Given the description of an element on the screen output the (x, y) to click on. 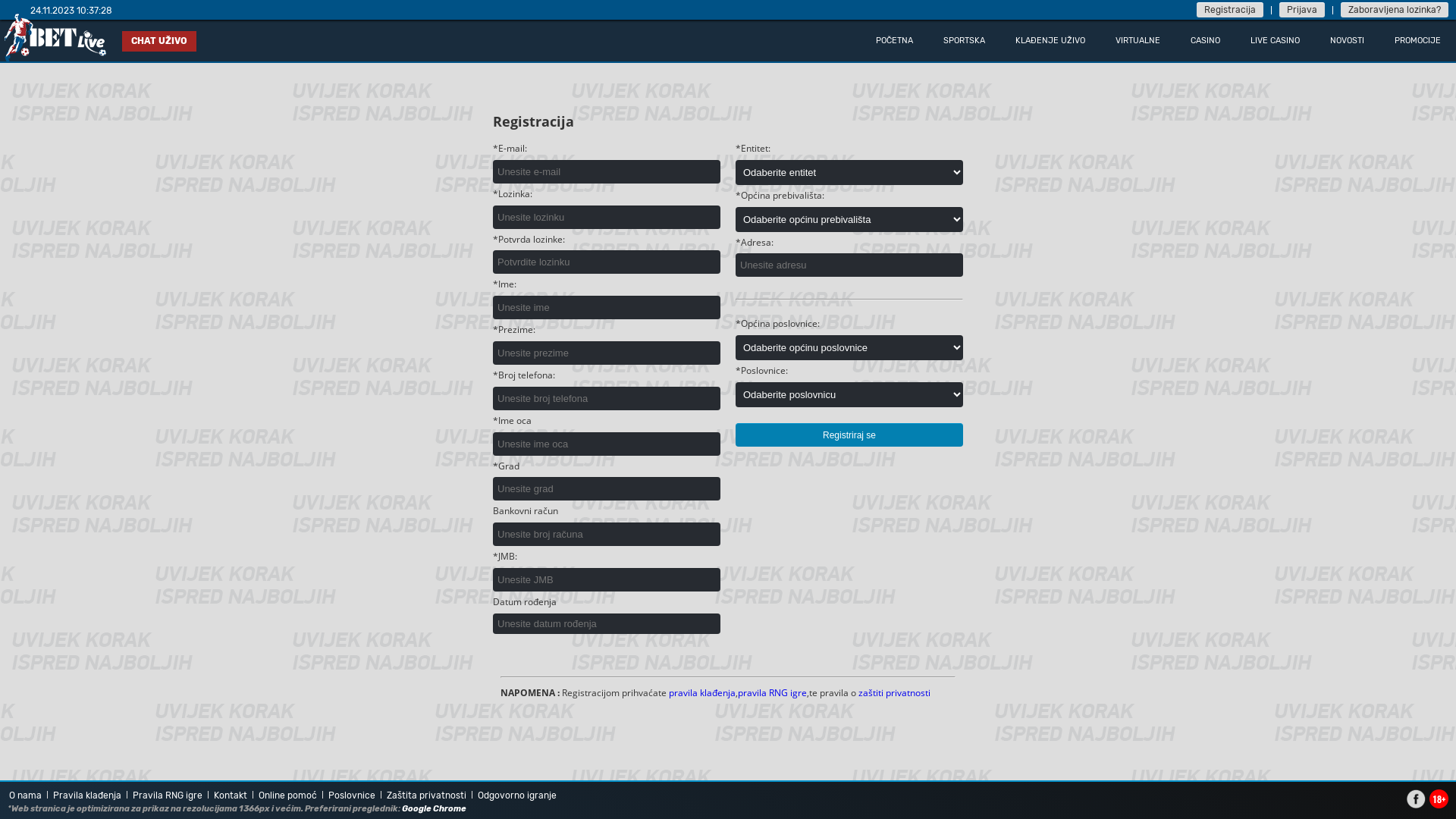
Google Chrome Element type: text (433, 808)
LIVE CASINO Element type: text (1274, 40)
Registriraj se Element type: text (849, 434)
CASINO Element type: text (1205, 40)
SPORTSKA Element type: text (964, 40)
Zaboravljena lozinka? Element type: text (1394, 9)
pravila RNG igre Element type: text (771, 692)
Odgovorno igranje Element type: text (516, 795)
O nama Element type: text (25, 795)
Prijava Element type: text (1301, 9)
Registracija Element type: text (1229, 9)
Poslovnice Element type: text (351, 795)
NOVOSTI Element type: text (1346, 40)
Pravila RNG igre Element type: text (167, 795)
Kontakt Element type: text (230, 795)
VIRTUALNE Element type: text (1137, 40)
